Given the description of an element on the screen output the (x, y) to click on. 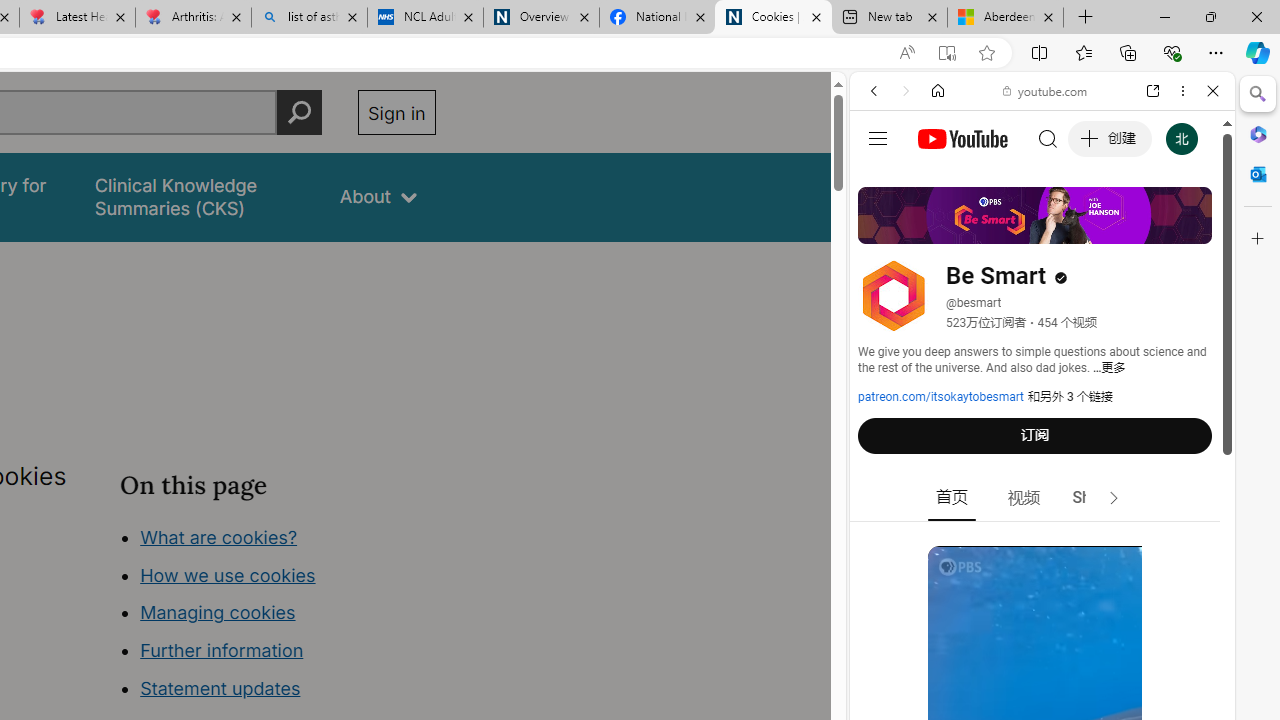
Search the web (1051, 137)
Trailer #2 [HD] (1042, 594)
How we use cookies (227, 574)
WEB   (882, 228)
Search Filter, Search Tools (1093, 228)
What are cookies? (218, 536)
About (378, 196)
